Given the description of an element on the screen output the (x, y) to click on. 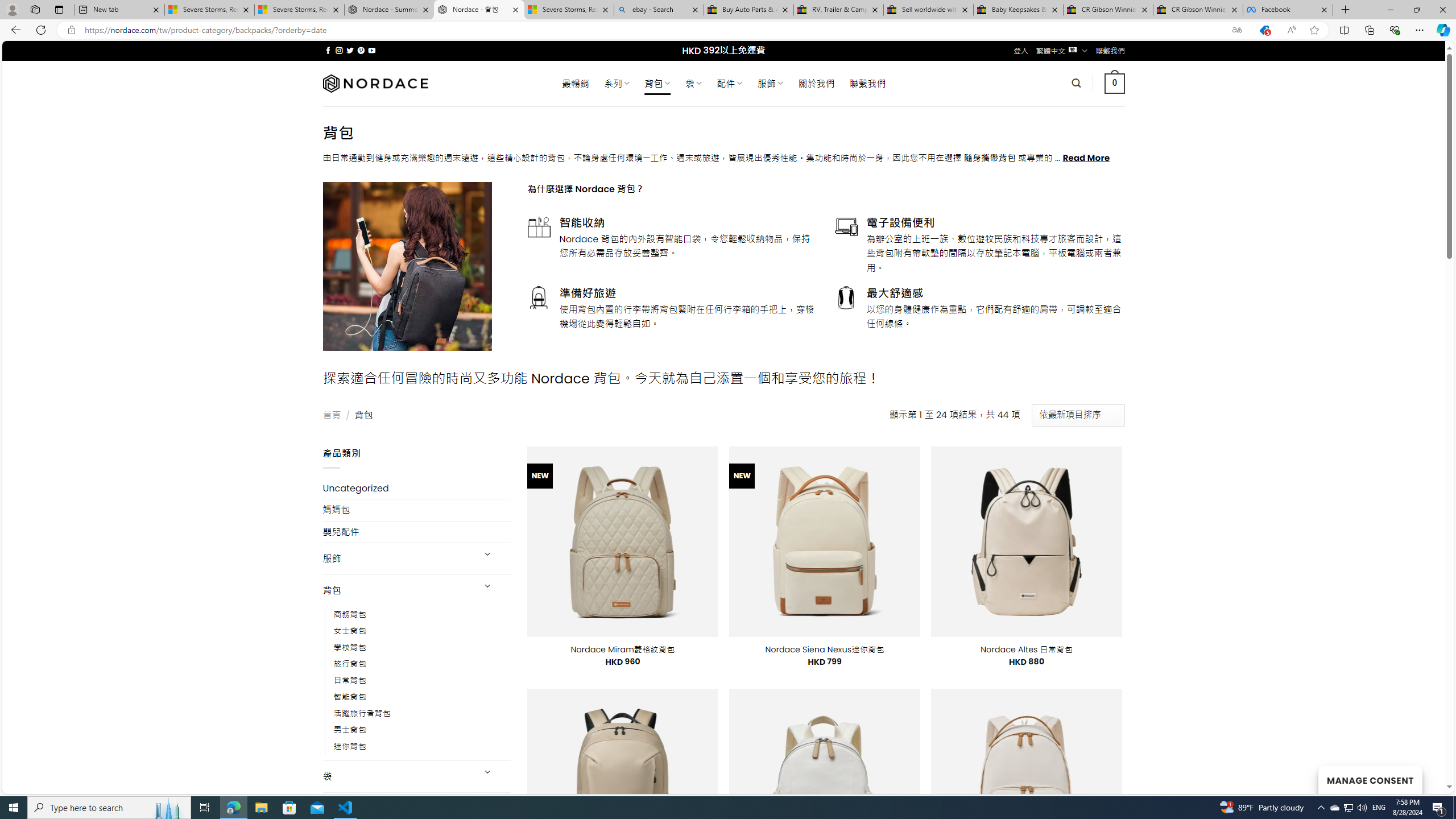
Read aloud this page (Ctrl+Shift+U) (1291, 29)
Copilot (Ctrl+Shift+.) (1442, 29)
Collections (1369, 29)
Personal Profile (12, 9)
Workspaces (34, 9)
Browser essentials (1394, 29)
